Given the description of an element on the screen output the (x, y) to click on. 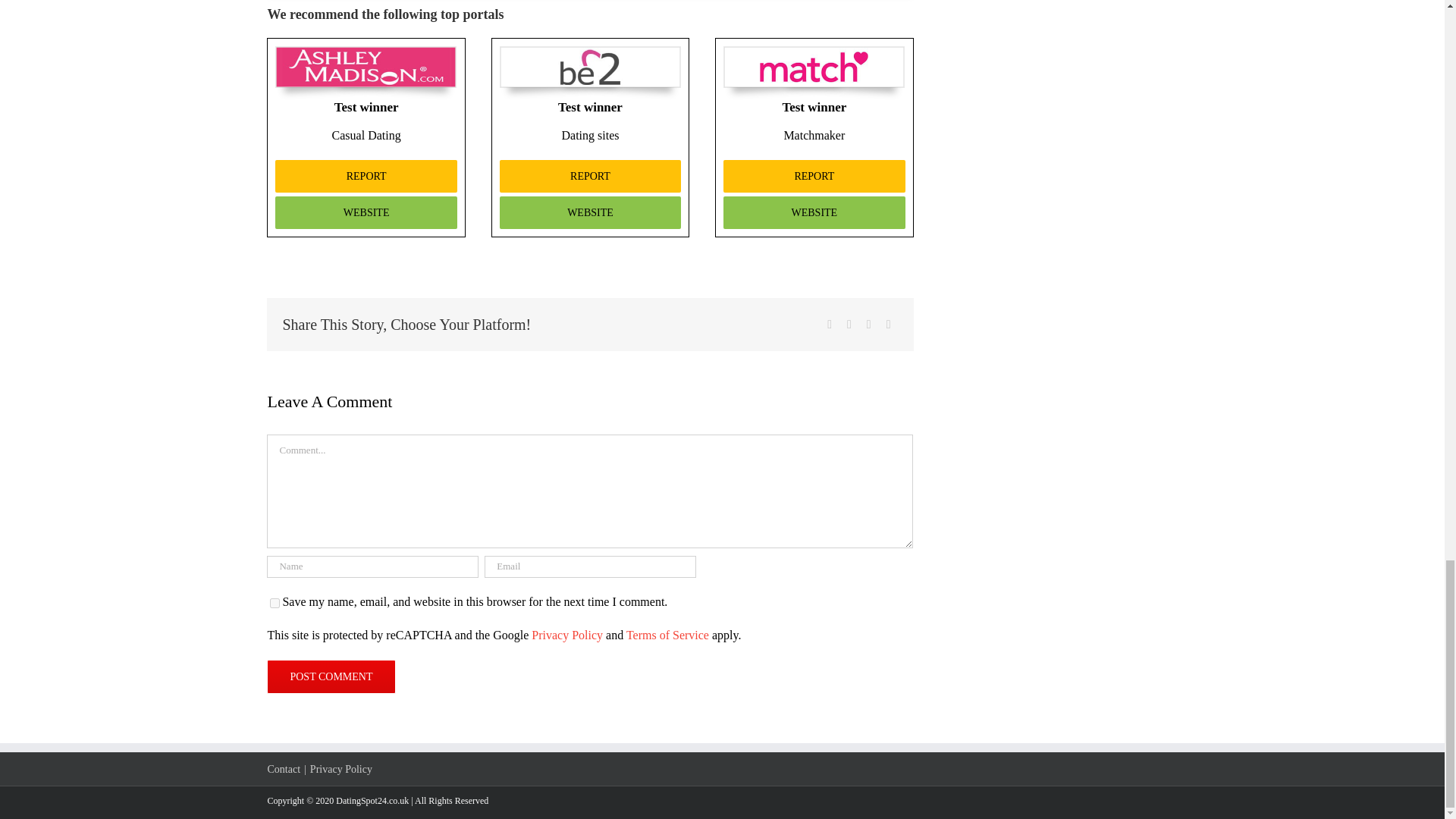
Website (590, 212)
Report (813, 175)
Website (813, 212)
Post Comment (330, 676)
Website (366, 212)
Report (366, 175)
Report (590, 175)
yes (274, 603)
